Given the description of an element on the screen output the (x, y) to click on. 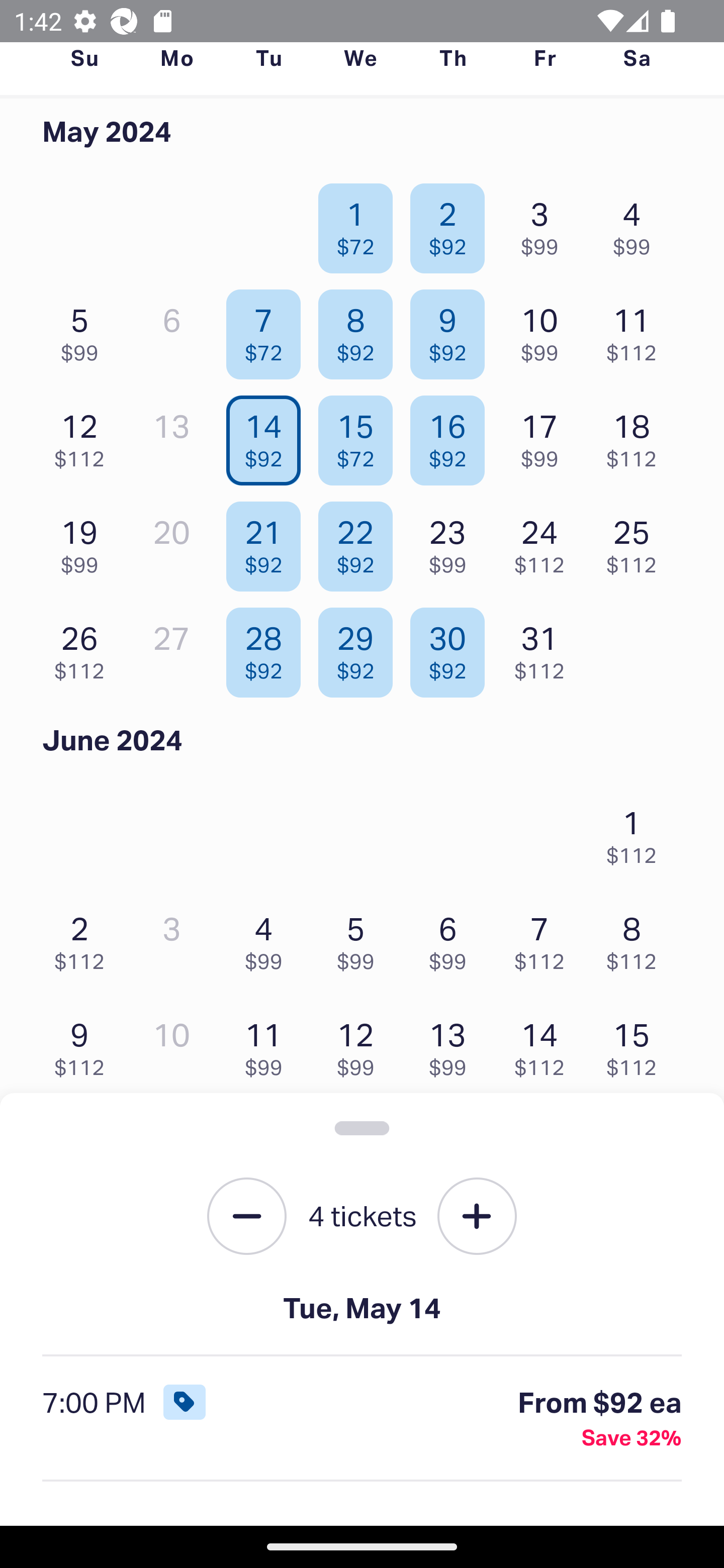
1 $72 (360, 223)
2 $92 (452, 223)
3 $99 (544, 223)
4 $99 (636, 223)
5 $99 (84, 329)
7 $72 (268, 329)
8 $92 (360, 329)
9 $92 (452, 329)
10 $99 (544, 329)
11 $112 (636, 329)
12 $112 (84, 435)
14 $92 (268, 435)
15 $72 (360, 435)
16 $92 (452, 435)
17 $99 (544, 435)
18 $112 (636, 435)
19 $99 (84, 541)
21 $92 (268, 541)
22 $92 (360, 541)
23 $99 (452, 541)
24 $112 (544, 541)
25 $112 (636, 541)
26 $112 (84, 647)
28 $92 (268, 647)
29 $92 (360, 647)
30 $92 (452, 647)
31 $112 (544, 647)
1 $112 (636, 831)
2 $112 (84, 938)
4 $99 (268, 938)
5 $99 (360, 938)
6 $99 (452, 938)
7 $112 (544, 938)
8 $112 (636, 938)
9 $112 (84, 1044)
11 $99 (268, 1044)
12 $99 (360, 1044)
13 $99 (452, 1044)
14 $112 (544, 1044)
15 $112 (636, 1044)
7:00 PM From $92 ea Save 32% (361, 1418)
